Given the description of an element on the screen output the (x, y) to click on. 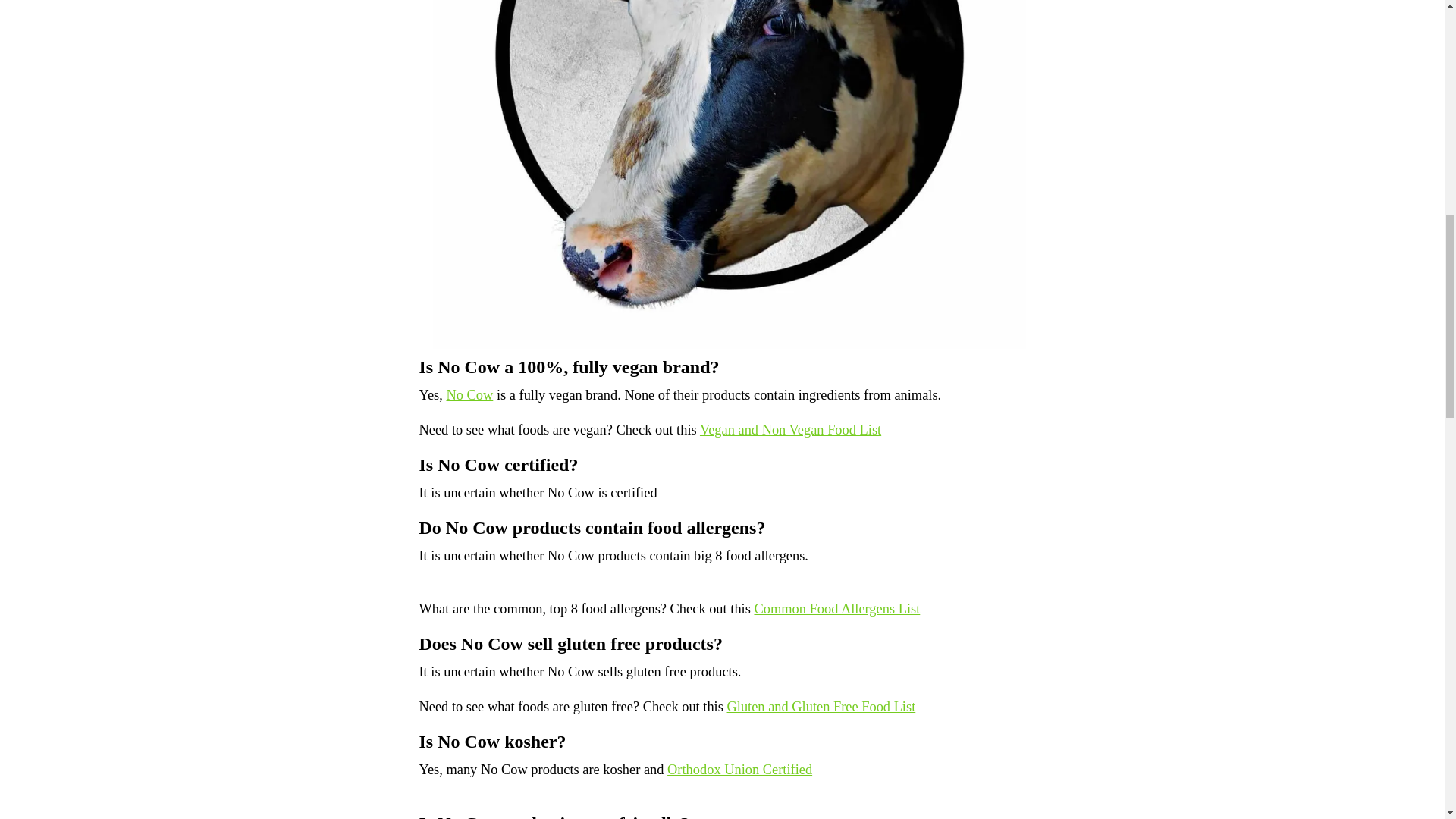
Common Food Allergens List (837, 608)
Gluten and Gluten Free Food List (820, 706)
Orthodox Union Certified (739, 769)
Vegan and Non Vegan Food List (790, 428)
No Cow (469, 394)
